Given the description of an element on the screen output the (x, y) to click on. 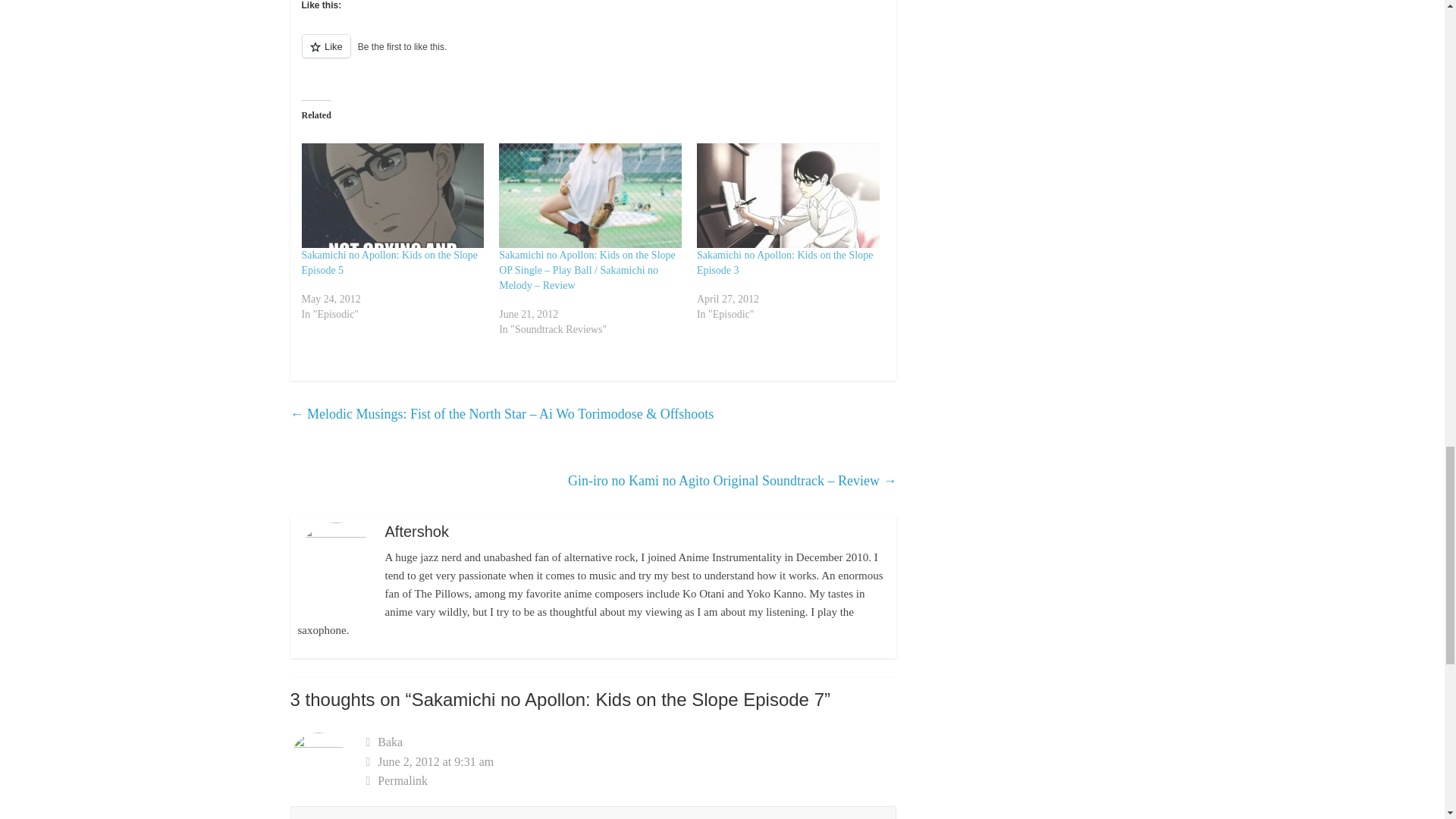
Sakamichi no Apollon: Kids on the Slope Episode 3 (785, 262)
Sakamichi no Apollon: Kids on the Slope Episode 5 (390, 262)
Sakamichi no Apollon: Kids on the Slope Episode 5 (390, 262)
Sakamichi no Apollon: Kids on the Slope Episode 5 (392, 195)
Like or Reblog (593, 55)
Permalink (630, 781)
